Given the description of an element on the screen output the (x, y) to click on. 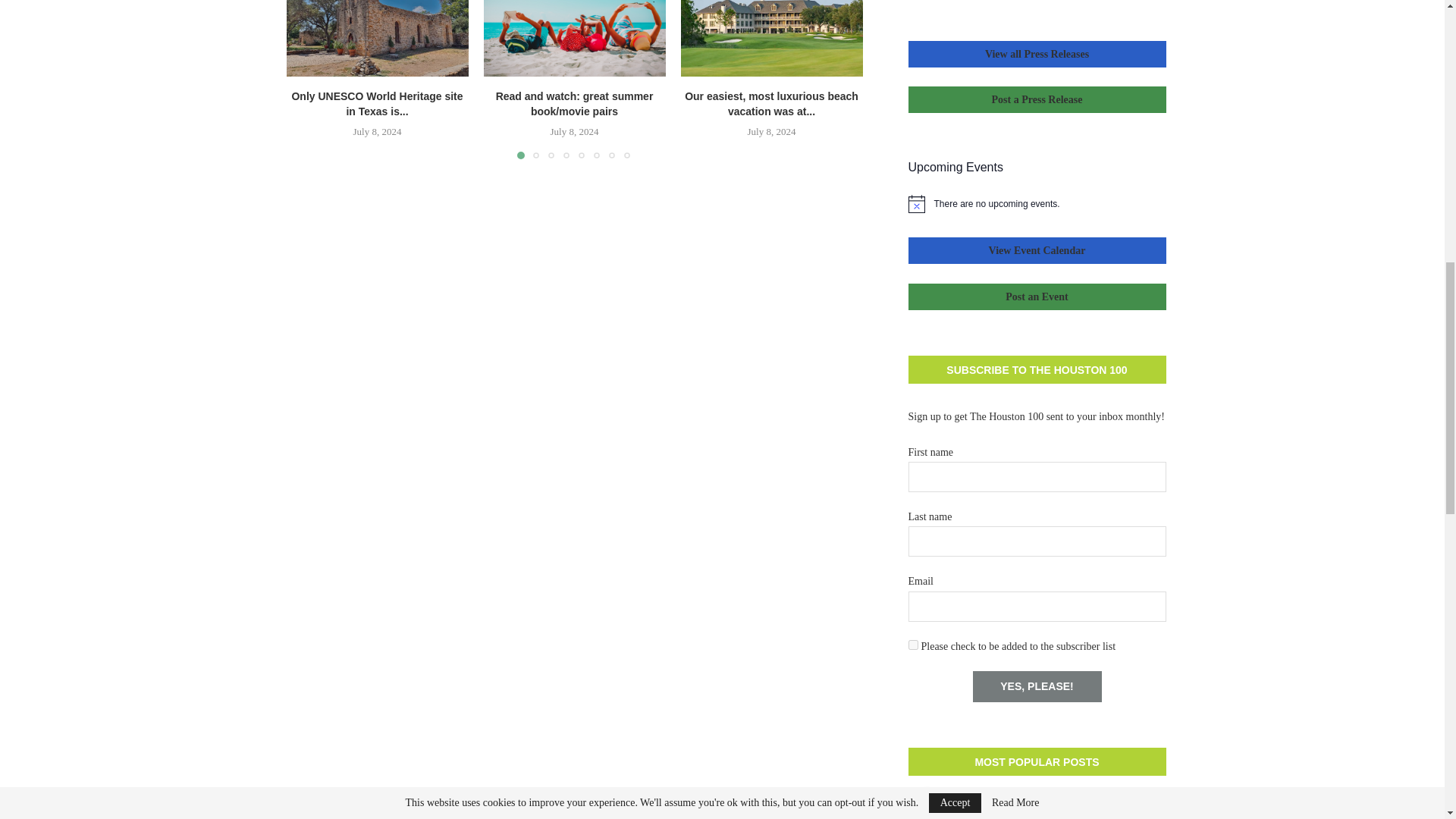
YES, PLEASE! (1036, 685)
1 (913, 644)
